Given the description of an element on the screen output the (x, y) to click on. 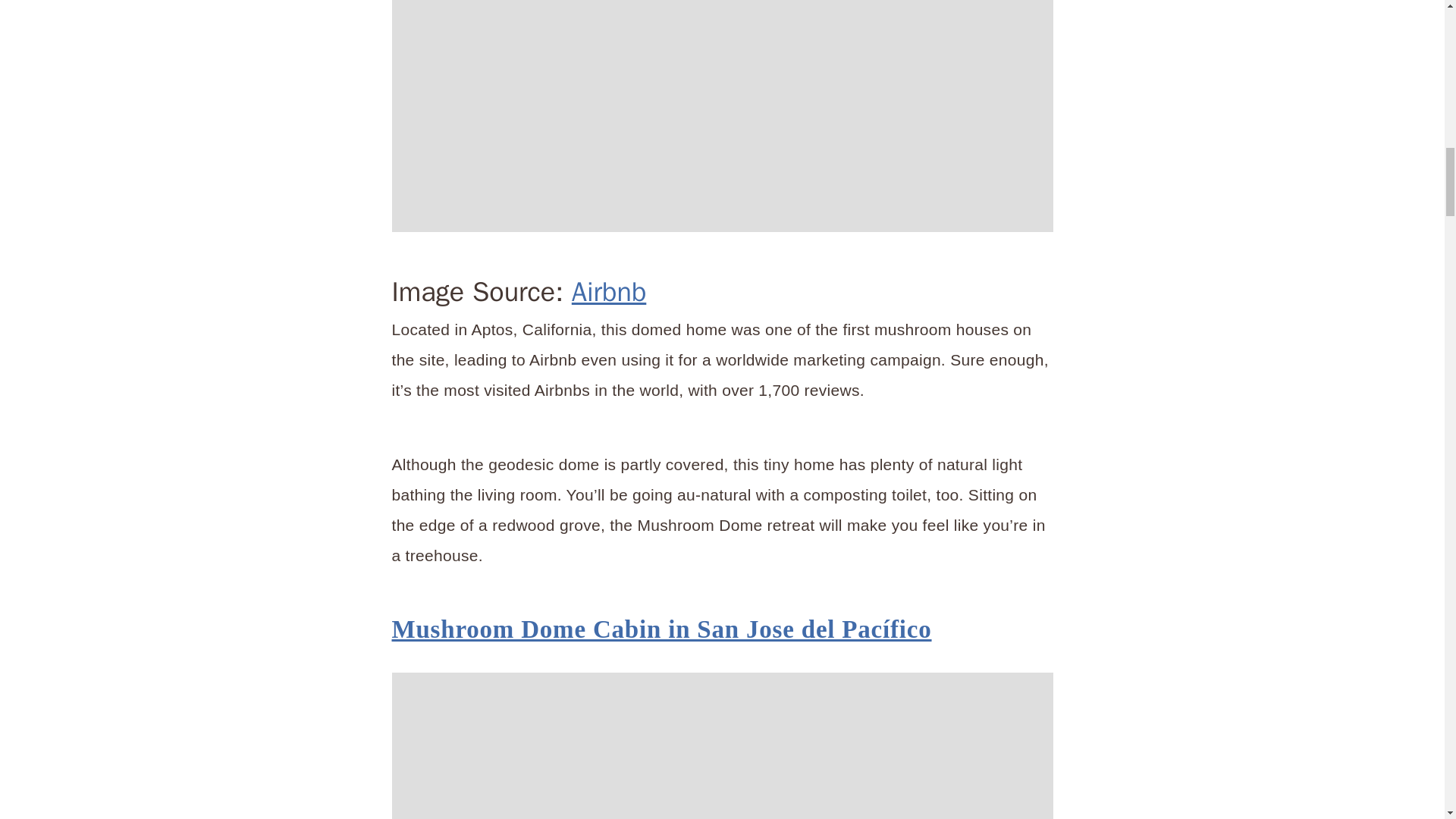
Airbnb (721, 745)
Airbnb (609, 291)
